Given the description of an element on the screen output the (x, y) to click on. 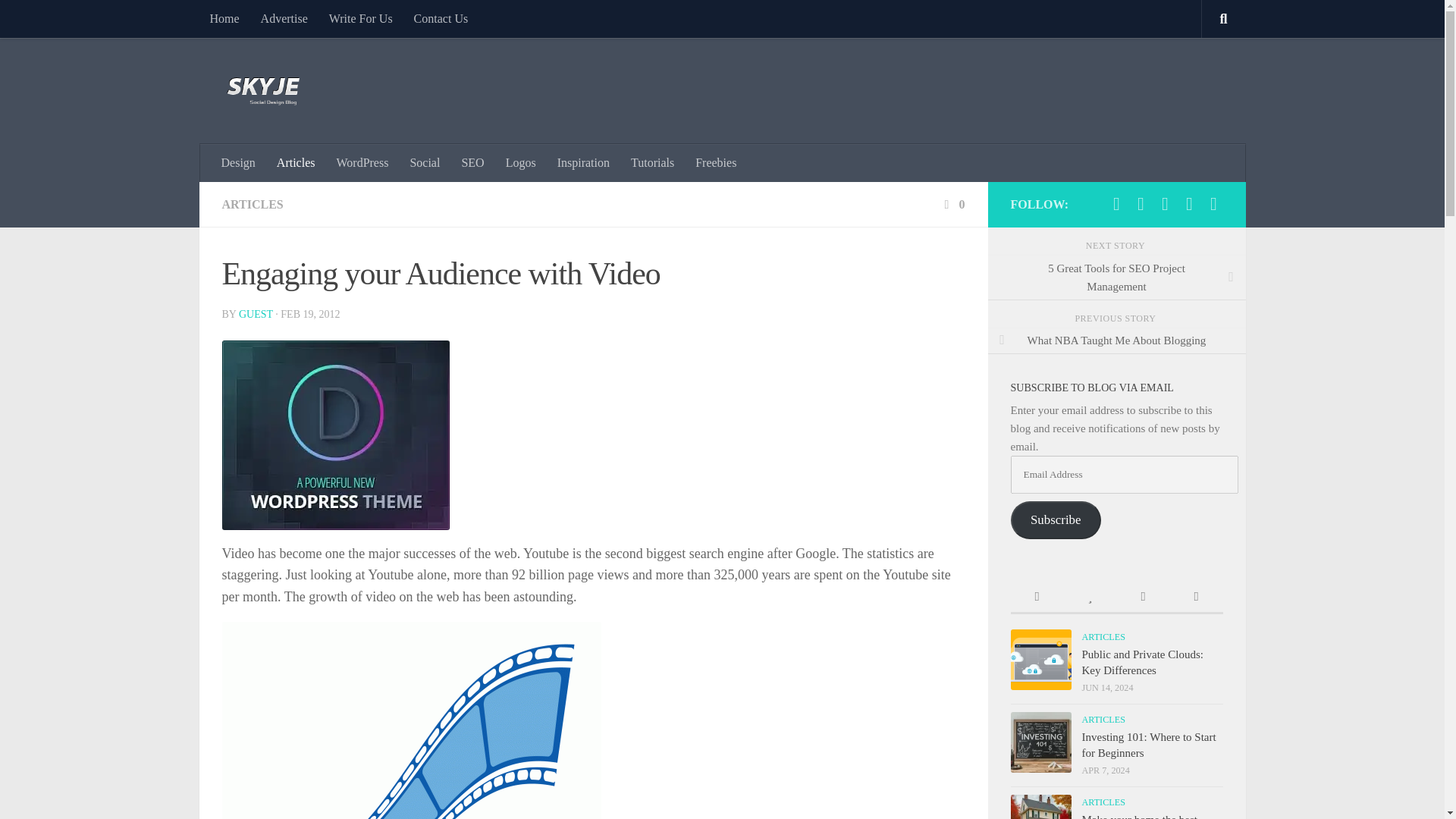
Freebies (715, 162)
Advertise (284, 18)
Design (238, 162)
ARTICLES (251, 204)
Contact Us (441, 18)
WordPress (361, 162)
Logos (521, 162)
Skip to content (59, 20)
Home (223, 18)
Articles (296, 162)
